Given the description of an element on the screen output the (x, y) to click on. 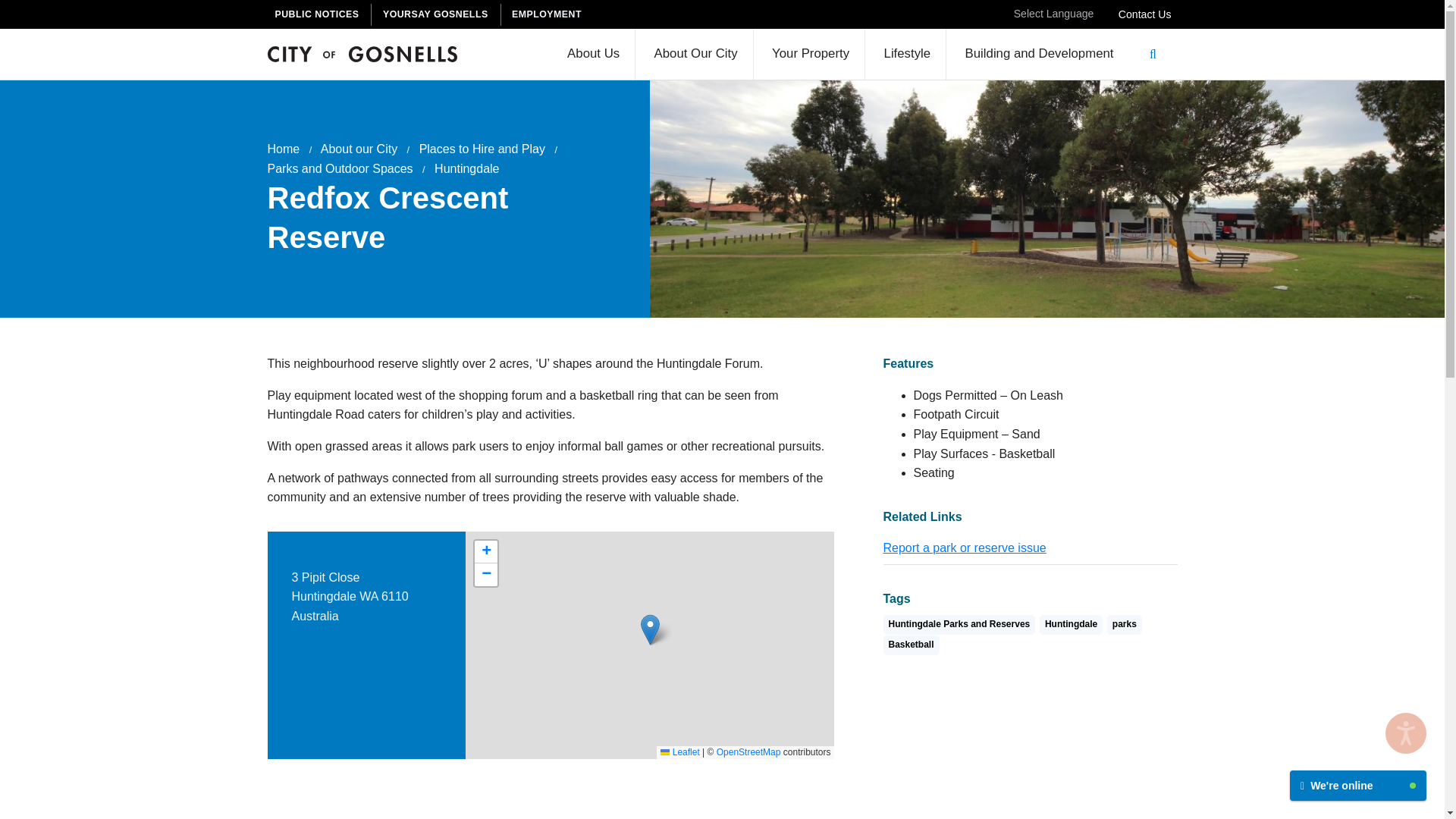
About Our City (695, 53)
Customer Chat (1358, 775)
Zoom in (485, 551)
Listen with the ReachDeck Toolbar (1406, 732)
PUBLIC NOTICES (318, 14)
Your Property (810, 53)
Contact Us (1144, 14)
Zoom out (485, 574)
A JavaScript library for interactive maps (679, 751)
YOURSAY GOSNELLS (437, 14)
About Us (592, 53)
City of Gosnells Public Notices (318, 14)
EMPLOYMENT (548, 14)
